Given the description of an element on the screen output the (x, y) to click on. 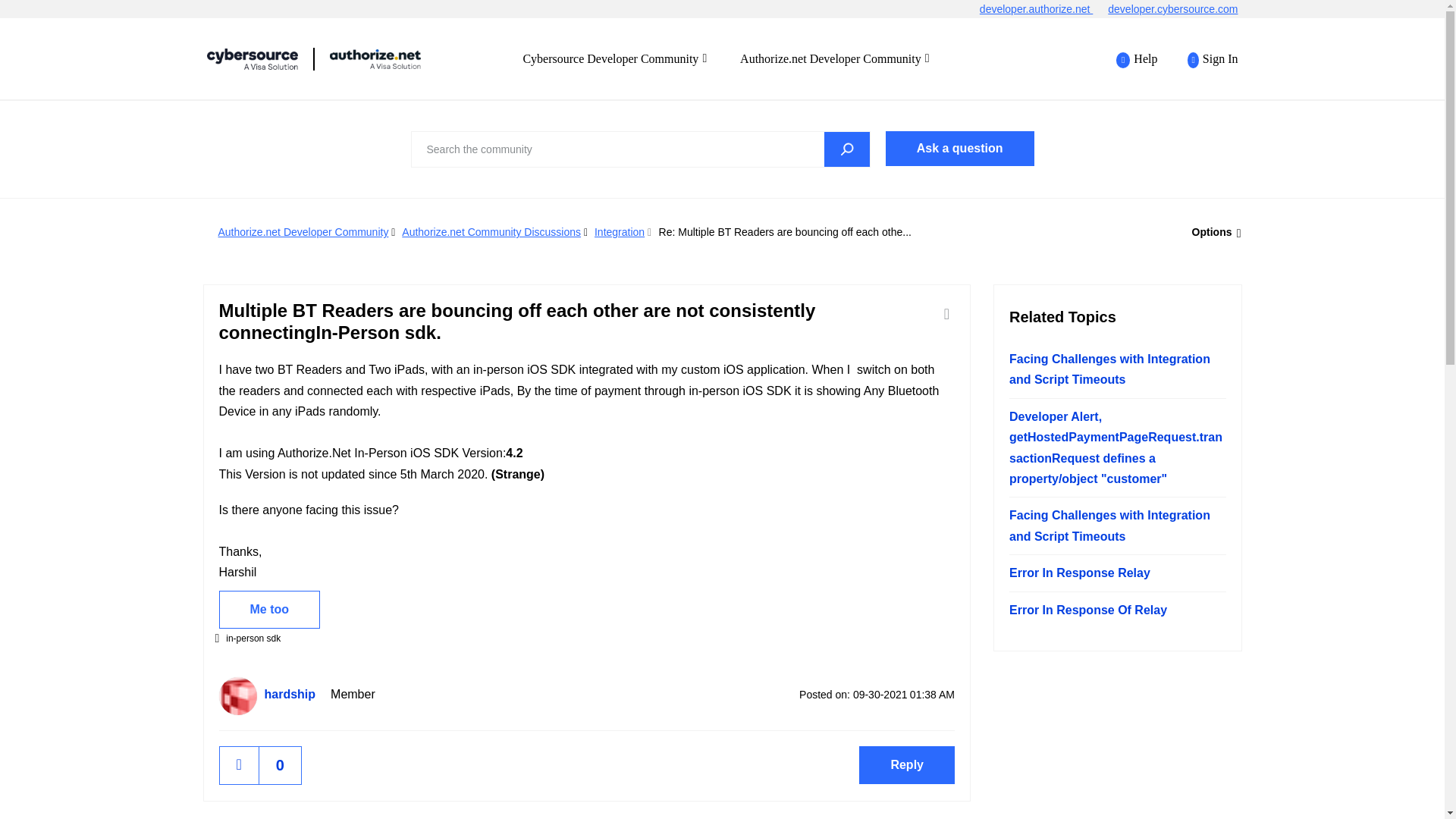
Search (846, 149)
Integration (619, 232)
Show option menu (1211, 232)
The total number of kudos this post has received. (280, 764)
Cybersource Developer Community (614, 58)
Cybersource Developer Community (374, 58)
Authorize.net Developer Community (834, 58)
Sign In (1204, 58)
Search (640, 149)
Ask a question (959, 148)
